Given the description of an element on the screen output the (x, y) to click on. 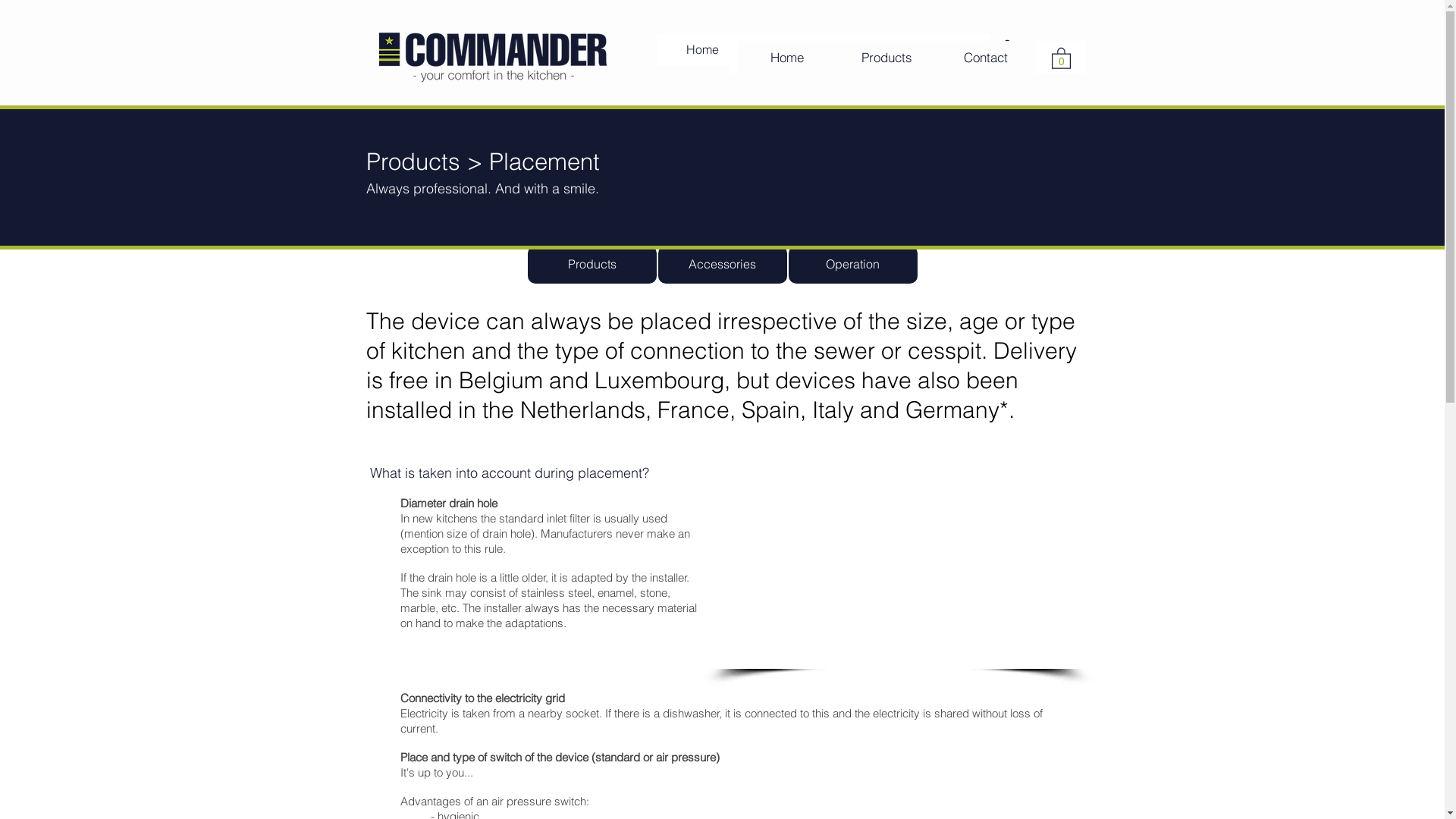
0 Element type: text (1006, 49)
Products Element type: text (886, 57)
Products Element type: text (591, 264)
Home Element type: text (702, 49)
Accessories Element type: text (722, 264)
Contact Element type: text (985, 57)
0 Element type: text (1060, 57)
Accessoires Element type: text (817, 49)
Contact Element type: text (939, 49)
Home Element type: text (786, 57)
Operation Element type: text (852, 264)
External Vimeo Element type: hover (897, 566)
